Given the description of an element on the screen output the (x, y) to click on. 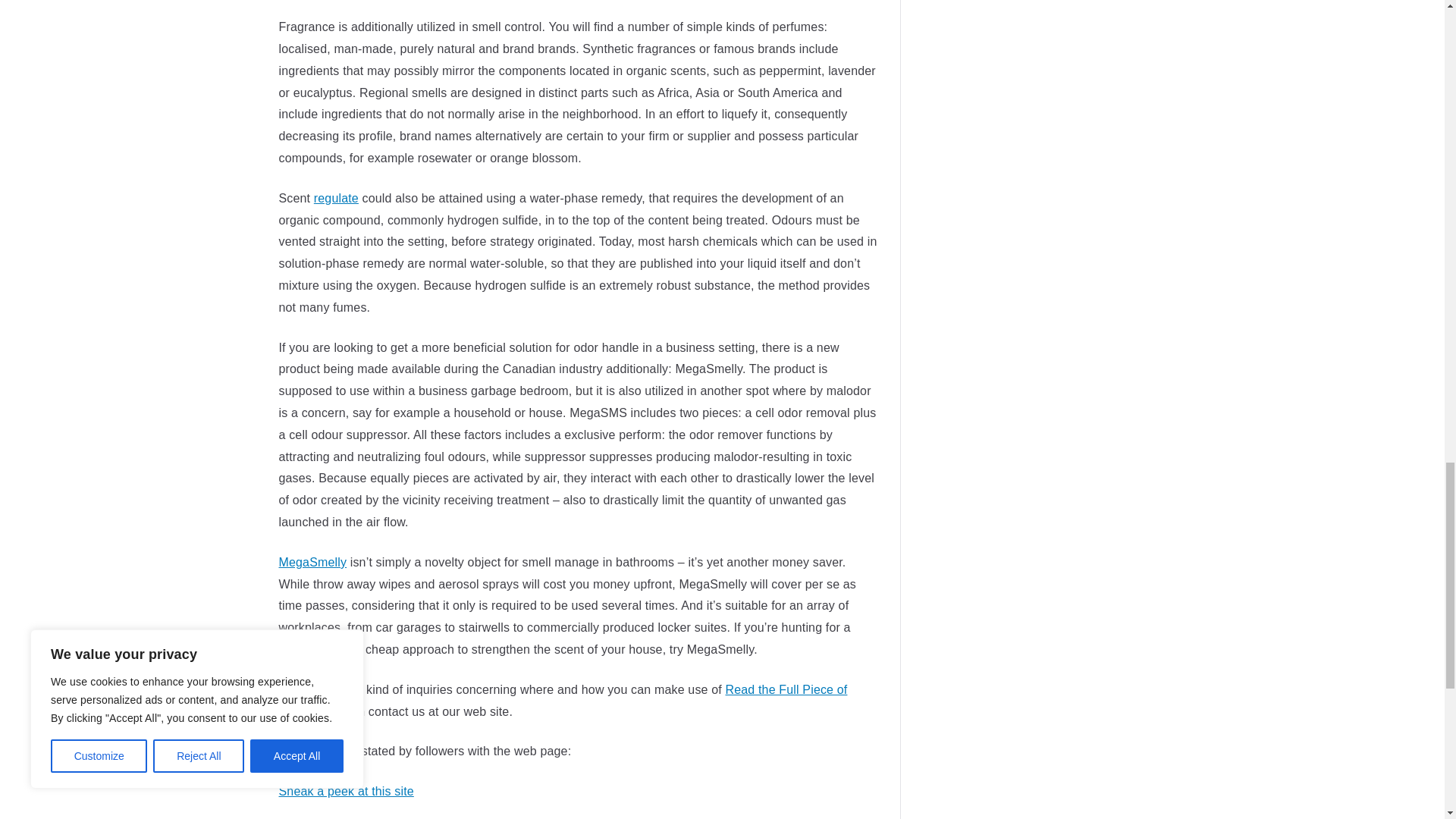
Sneak a peek at this site (346, 790)
regulate (336, 197)
MegaSmelly (313, 562)
Read the Full Piece of writing (563, 700)
